Given the description of an element on the screen output the (x, y) to click on. 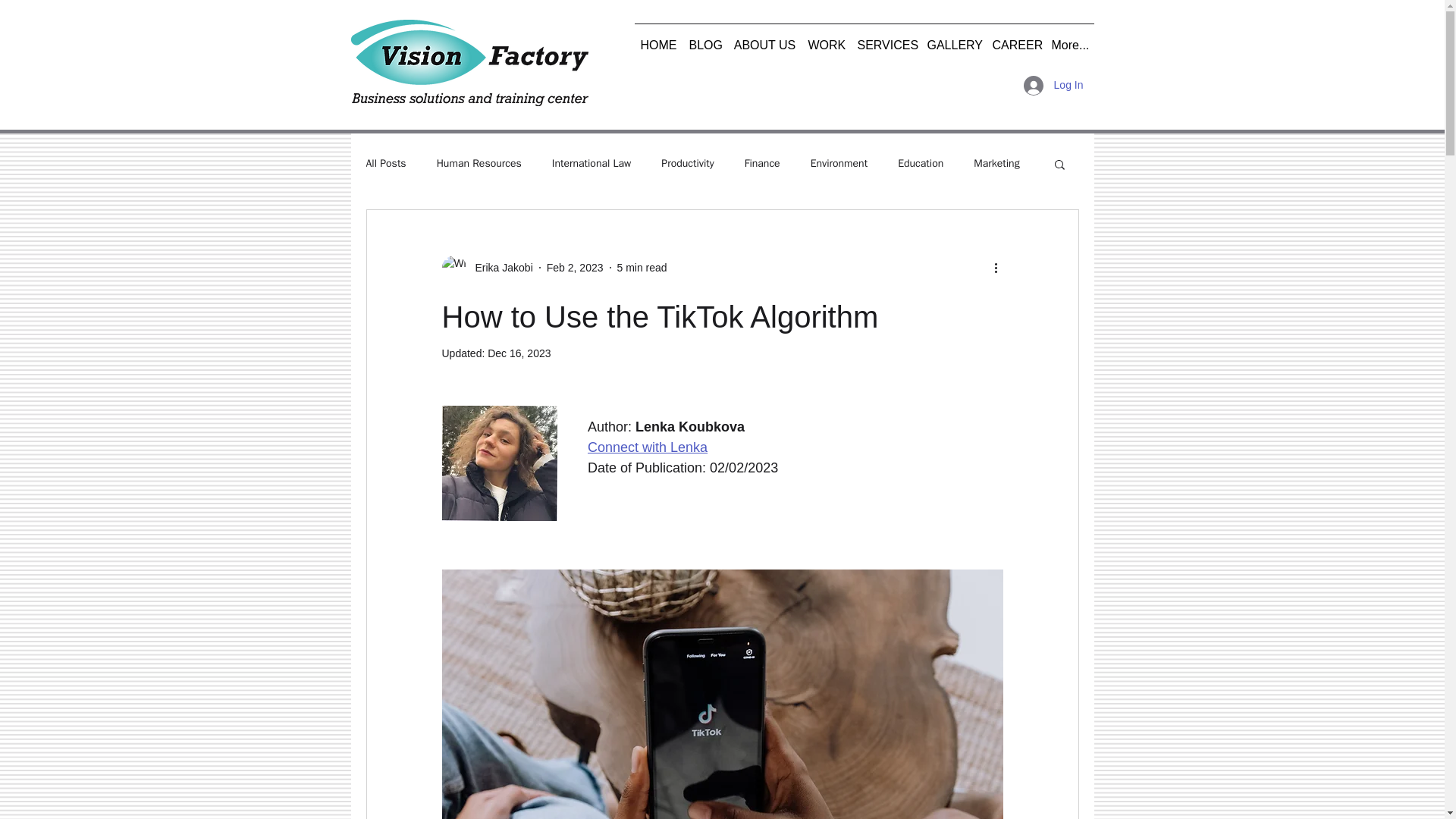
HOME (657, 38)
WORK (826, 38)
Erika Jakobi (498, 267)
GALLERY (952, 38)
BLOG (704, 38)
5 min read (641, 266)
SERVICES (885, 38)
Dec 16, 2023 (518, 353)
CAREER (1015, 38)
ABOUT US (765, 38)
Feb 2, 2023 (575, 266)
